Given the description of an element on the screen output the (x, y) to click on. 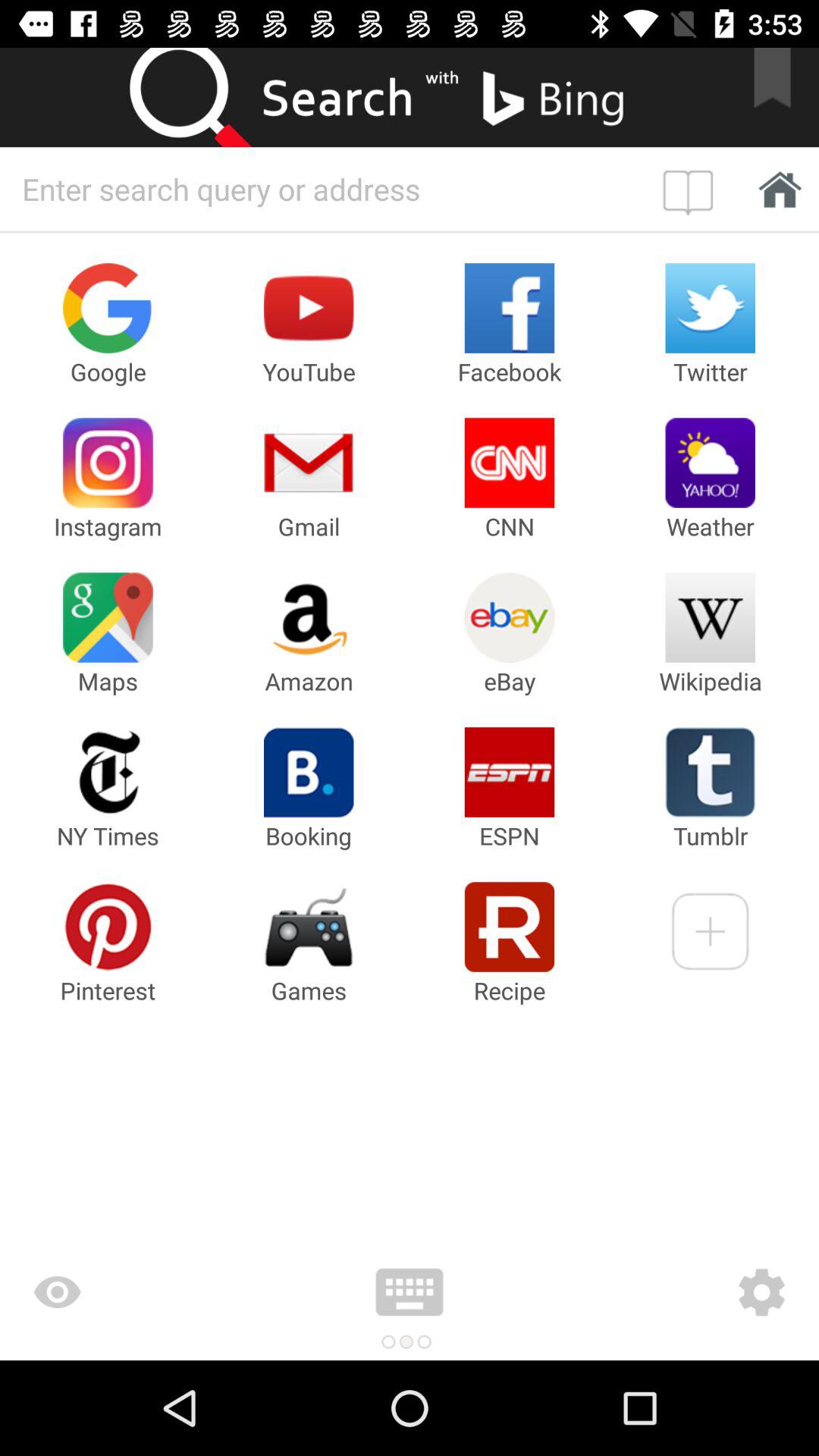
search (204, 97)
